Given the description of an element on the screen output the (x, y) to click on. 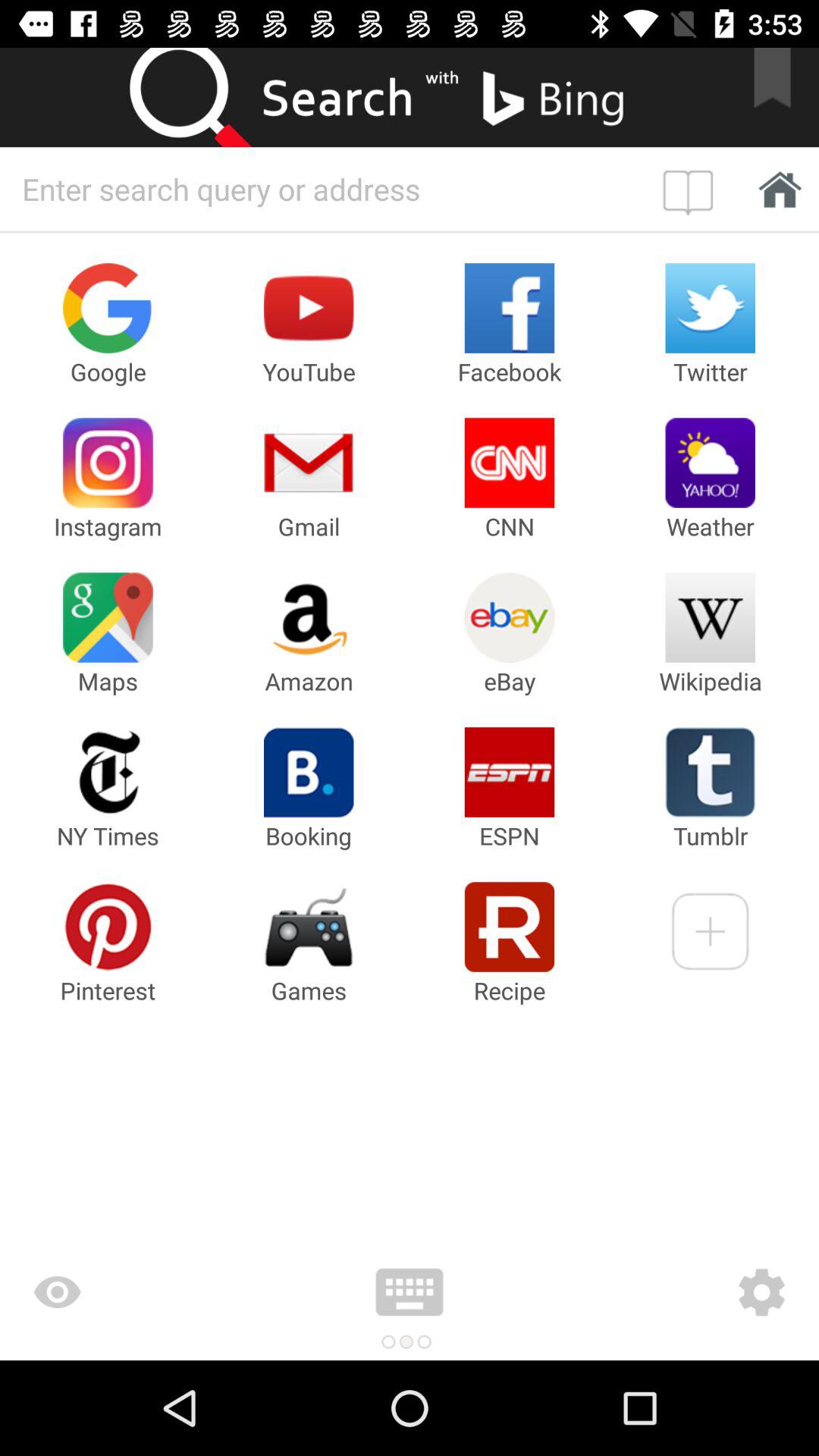
search (204, 97)
